Given the description of an element on the screen output the (x, y) to click on. 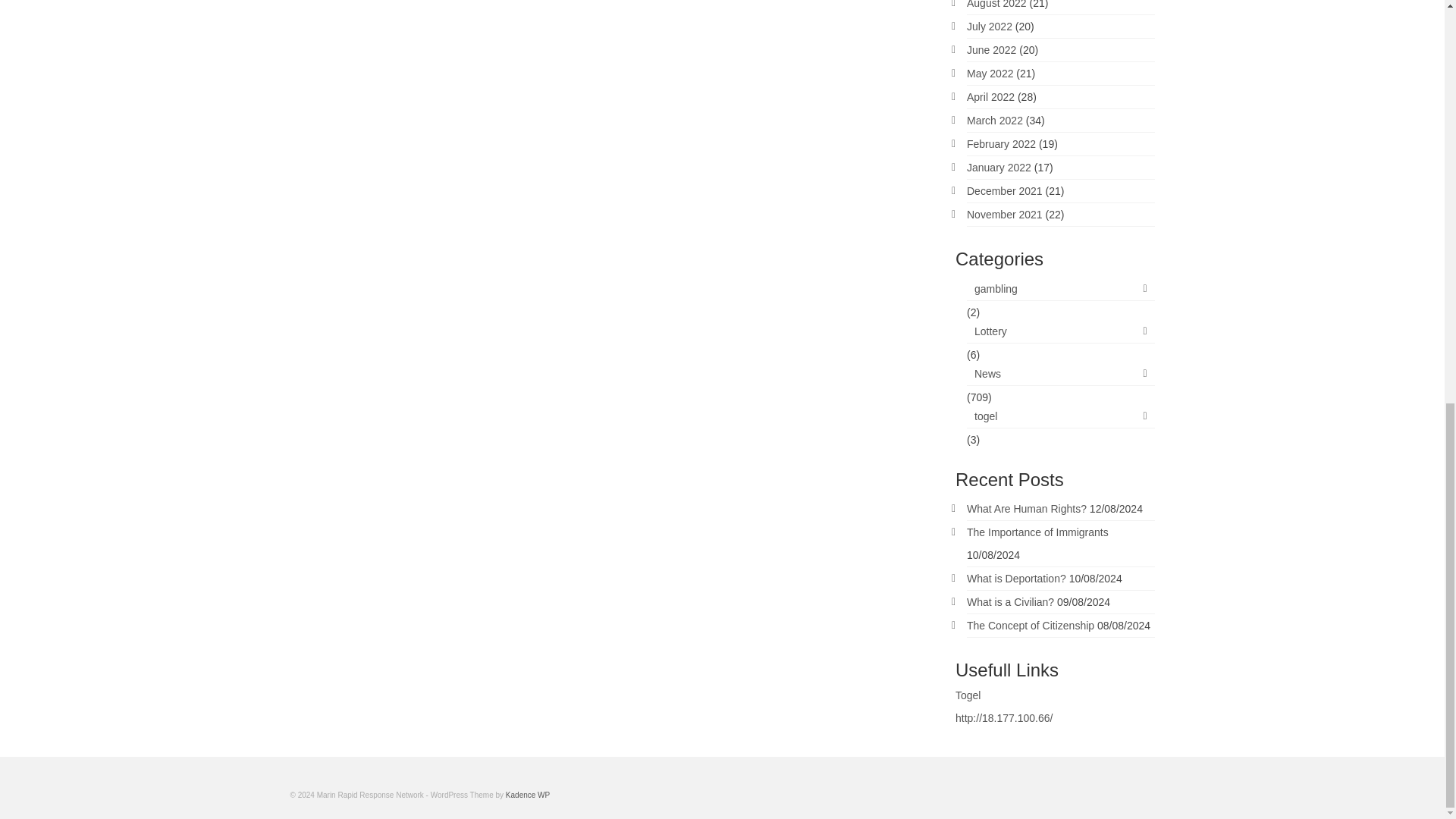
June 2022 (991, 50)
July 2022 (988, 26)
May 2022 (989, 73)
March 2022 (994, 120)
February 2022 (1000, 143)
April 2022 (990, 96)
August 2022 (996, 4)
